Given the description of an element on the screen output the (x, y) to click on. 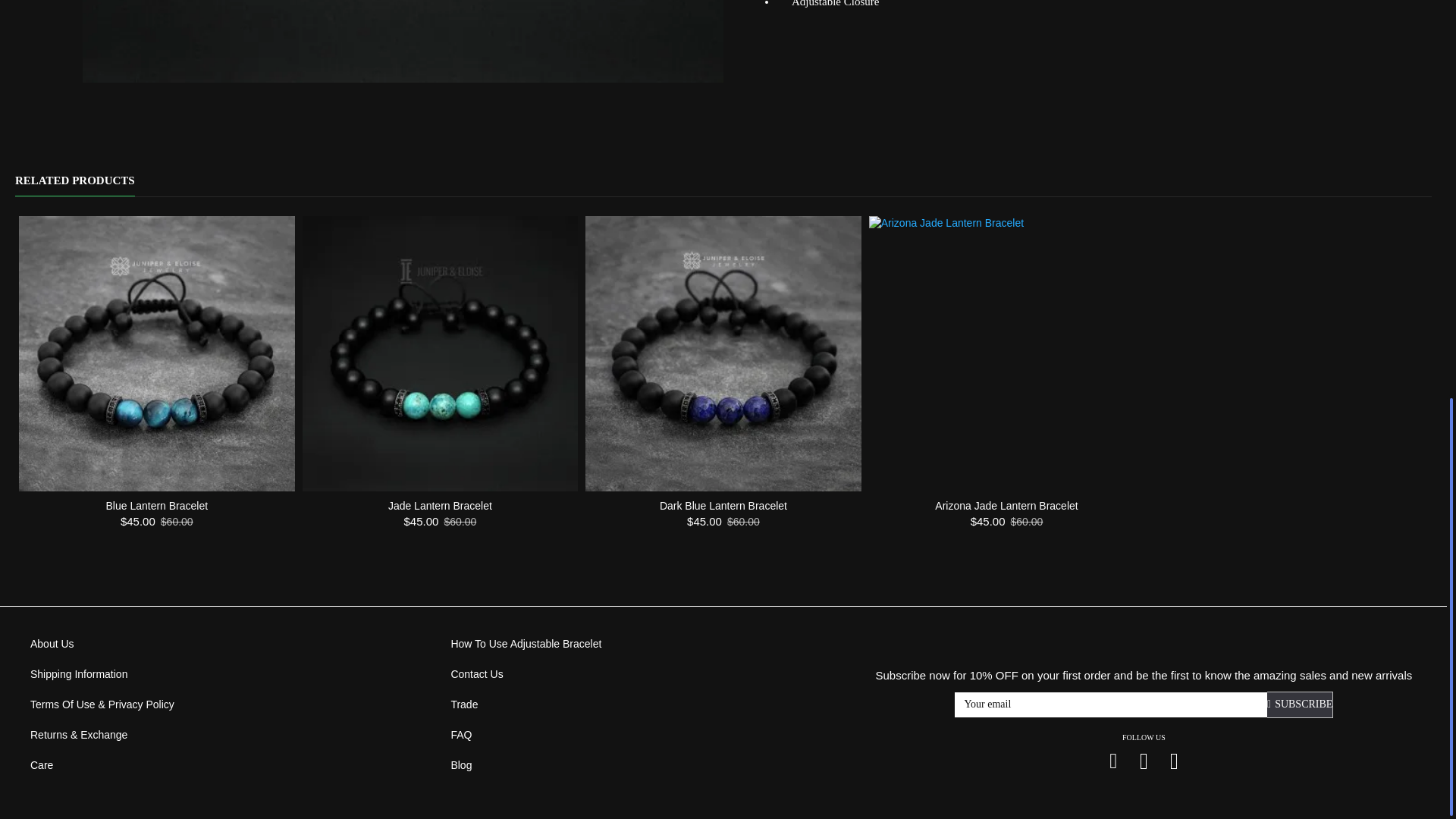
Azure Blue Lantern Bracelet (402, 41)
Dark Blue Lantern Bracelet (723, 354)
Arizona Jade Lantern Bracelet (1006, 354)
Jade Lantern Bracelet (440, 354)
Blue Lantern Bracelet (156, 354)
